Given the description of an element on the screen output the (x, y) to click on. 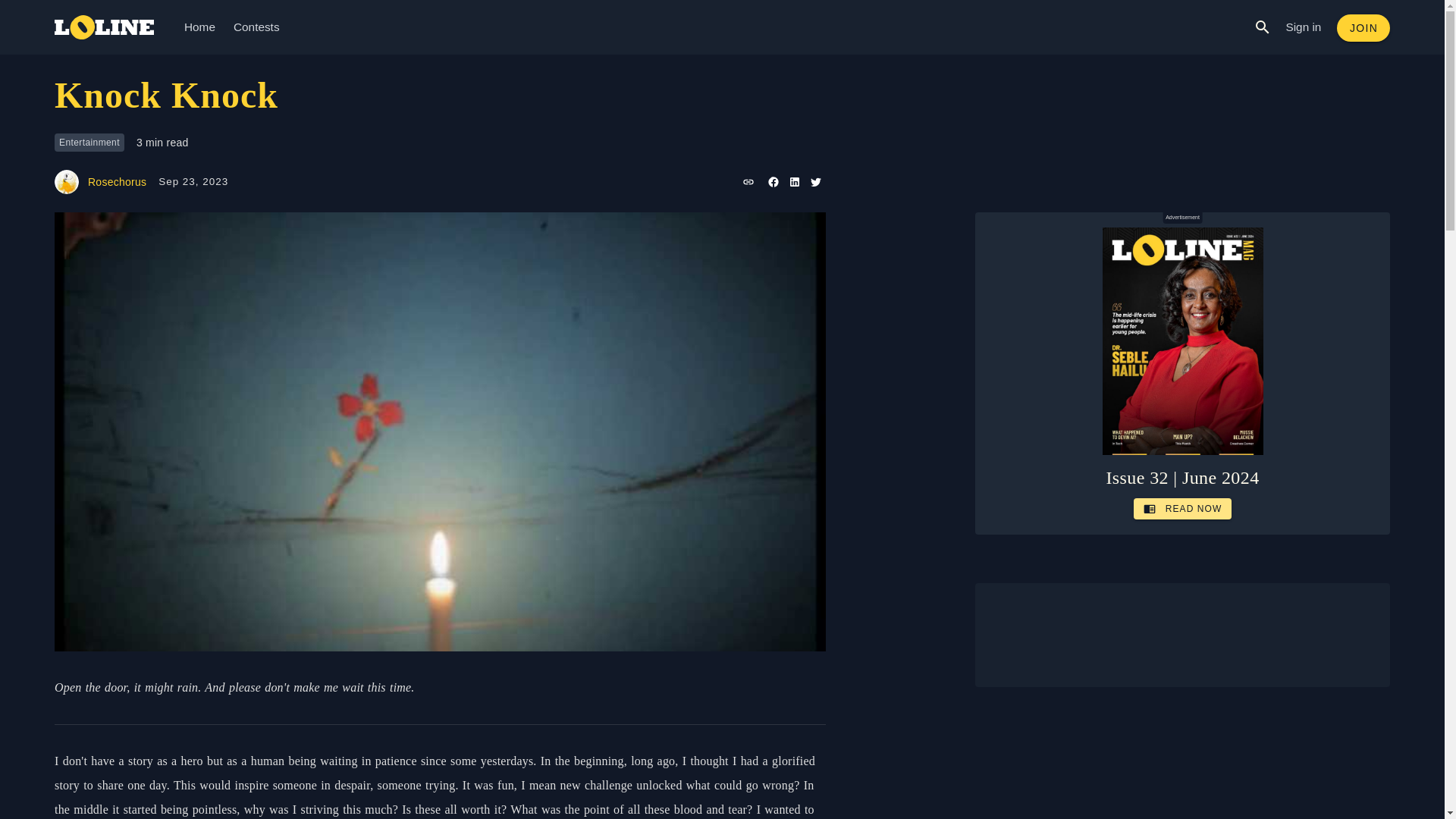
Contests (256, 26)
READ NOW (1182, 508)
Copy Link (748, 181)
JOIN (1363, 27)
Rosechorus (101, 181)
Share on LinkedIn (794, 181)
Share on Twitter (815, 181)
Advertisement (1182, 635)
Home (199, 26)
Share on Facebook (772, 181)
Entertainment (89, 142)
